Given the description of an element on the screen output the (x, y) to click on. 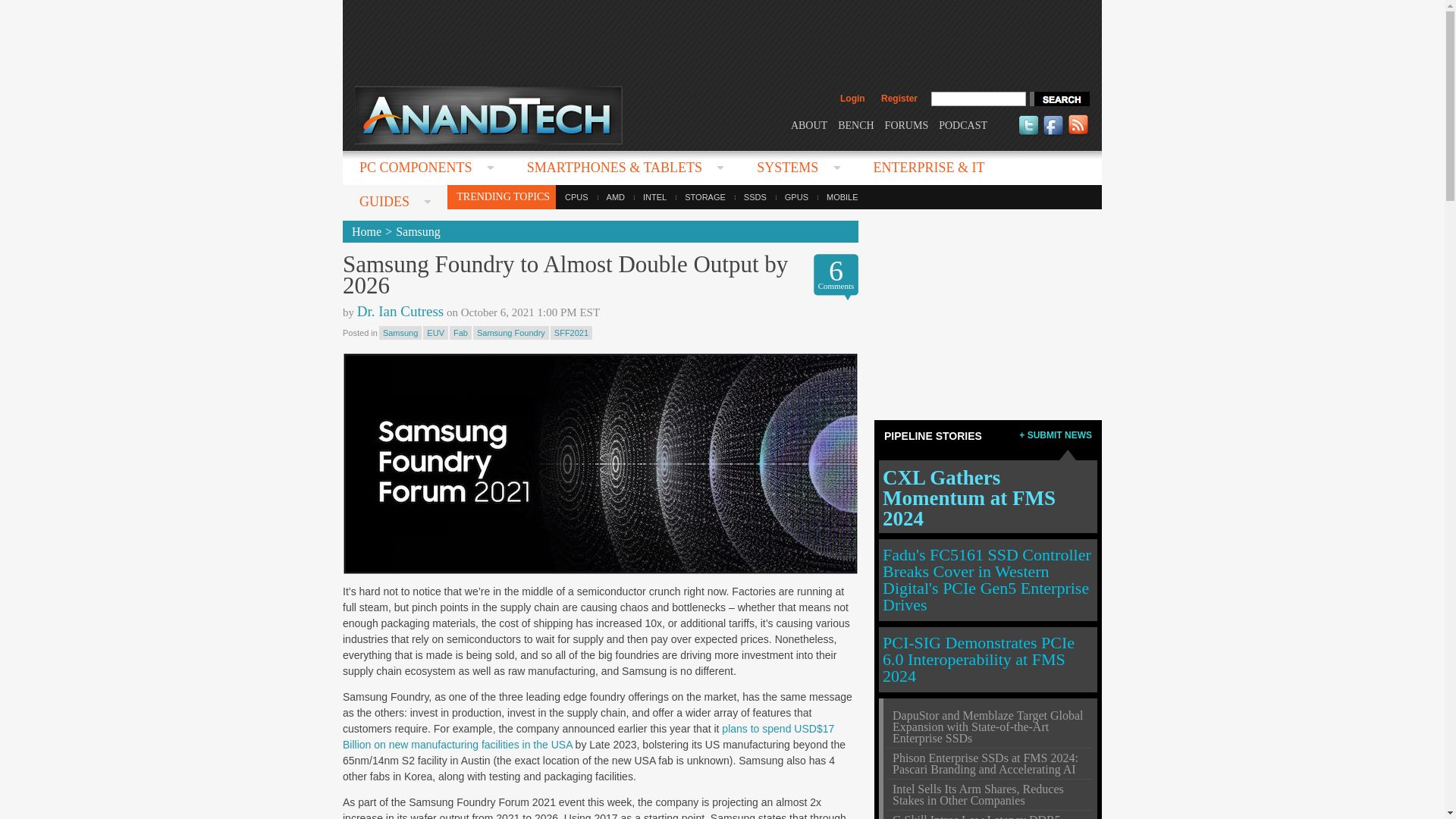
Register (898, 98)
search (1059, 98)
search (1059, 98)
BENCH (855, 125)
ABOUT (808, 125)
PODCAST (963, 125)
Login (852, 98)
search (1059, 98)
FORUMS (906, 125)
